Given the description of an element on the screen output the (x, y) to click on. 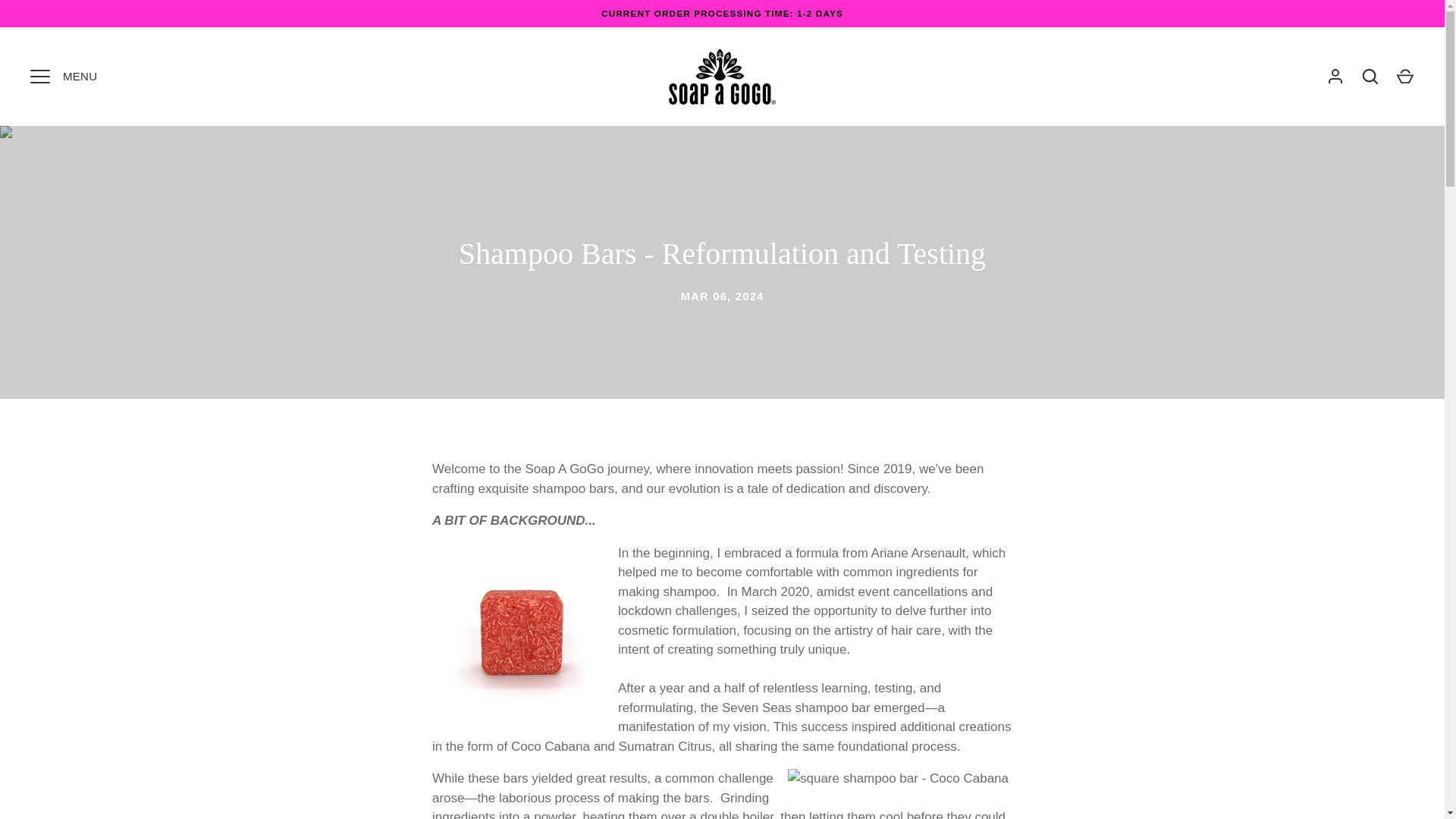
MENU (39, 76)
Coco Cabana shampoo bar (550, 746)
Ariane Arsenault Patreon Page (918, 553)
